Given the description of an element on the screen output the (x, y) to click on. 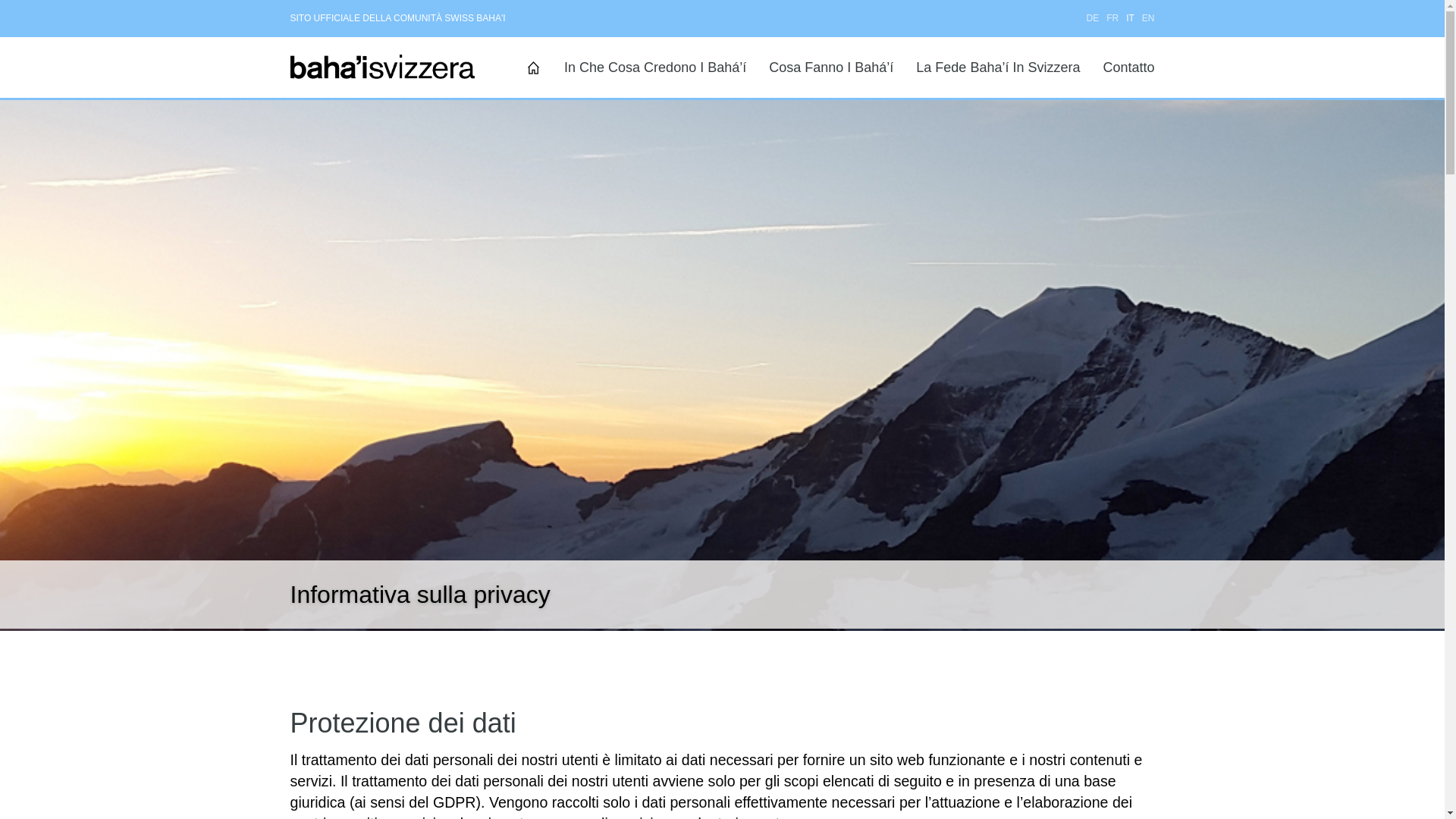
Contatto Element type: text (1128, 67)
FR Element type: text (1112, 17)
DE Element type: text (1091, 17)
EN Element type: text (1148, 17)
